Given the description of an element on the screen output the (x, y) to click on. 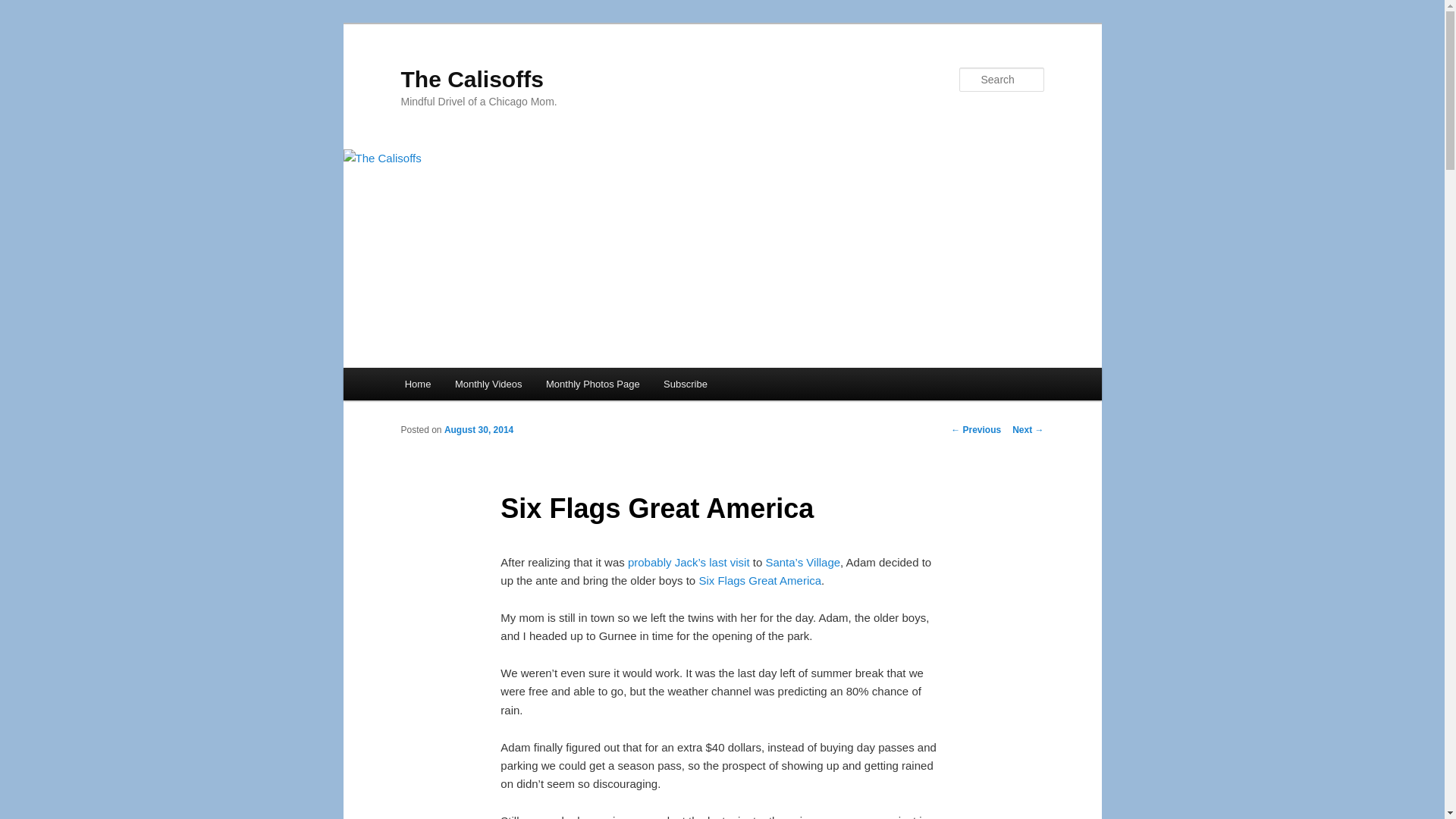
Search (24, 8)
9:26 pm (478, 429)
The Calisoffs (471, 78)
Monthly Videos (488, 383)
Monthly Photos Page (592, 383)
Home (417, 383)
